Given the description of an element on the screen output the (x, y) to click on. 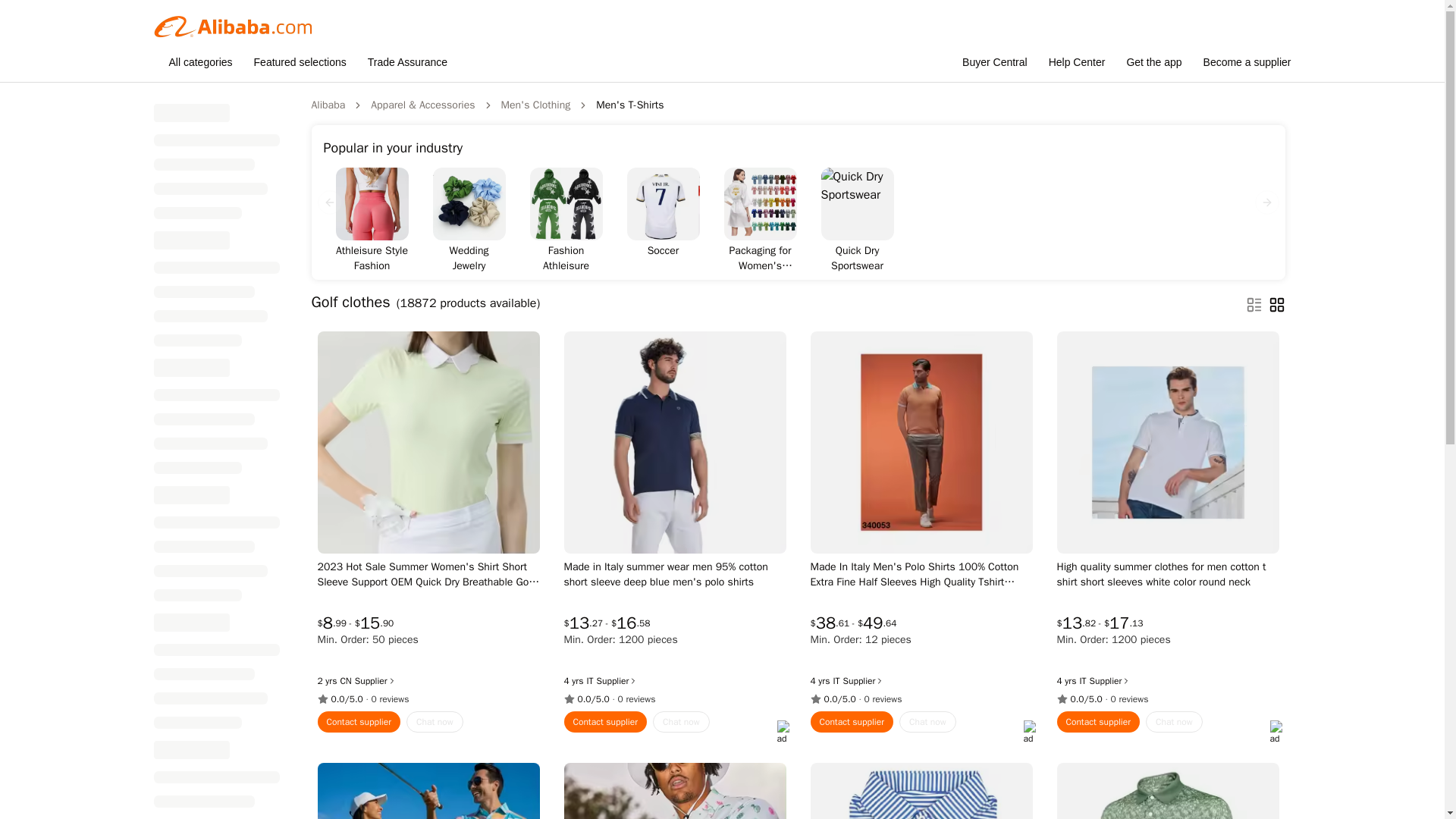
Previous slide (328, 202)
Contact supplier (851, 721)
Chat now (434, 721)
Supplier (864, 680)
Next slide (1265, 202)
Supplier (617, 680)
Chat now (927, 721)
Men's Clothing (535, 105)
Contact supplier (358, 721)
Supplier (375, 680)
Chat now (681, 721)
Contact supplier (605, 721)
Alibaba (328, 105)
Dongguan Yiganjindong Sporting Goods Co., Ltd. (344, 680)
